Given the description of an element on the screen output the (x, y) to click on. 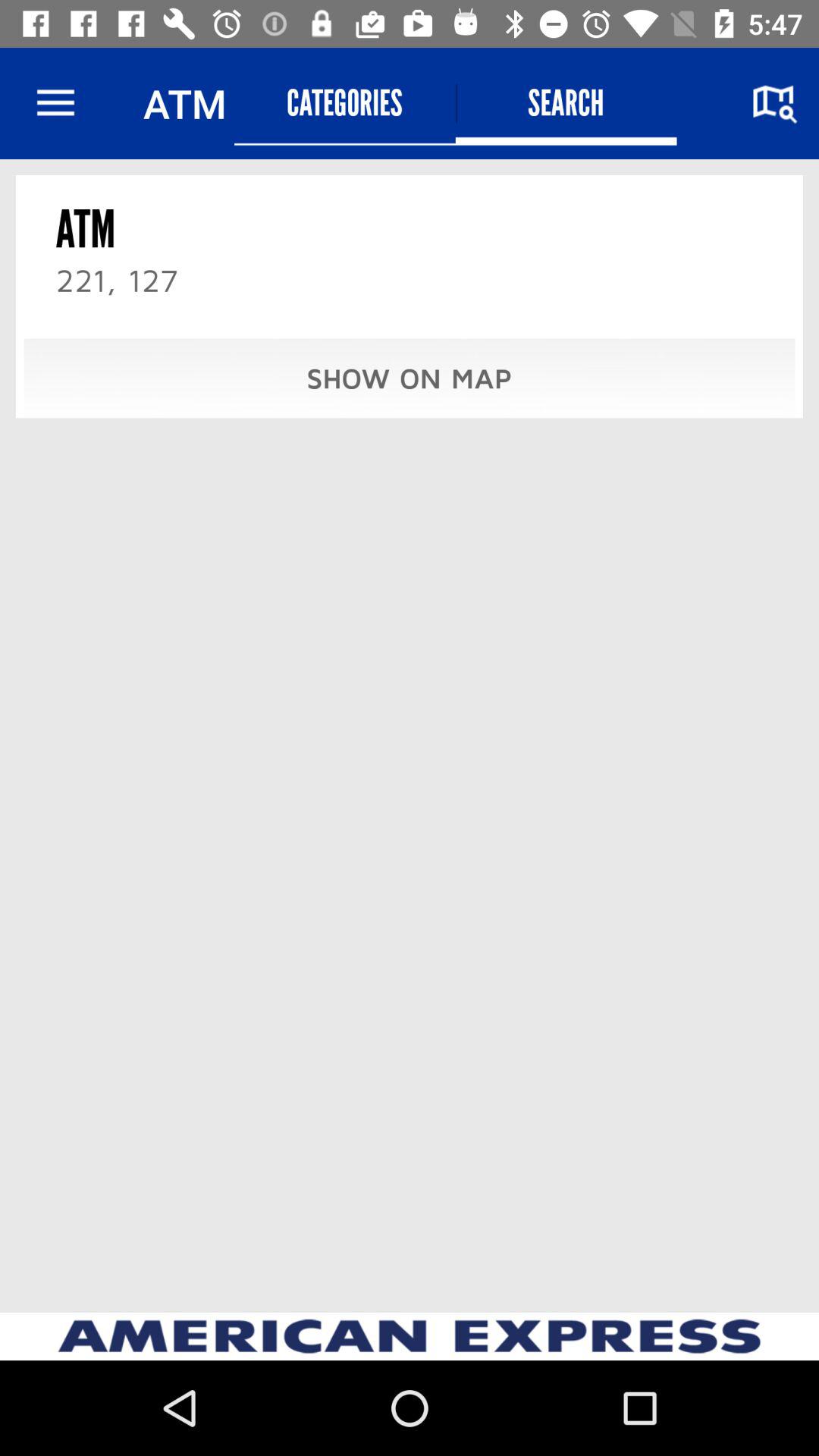
swipe until categories icon (344, 103)
